Given the description of an element on the screen output the (x, y) to click on. 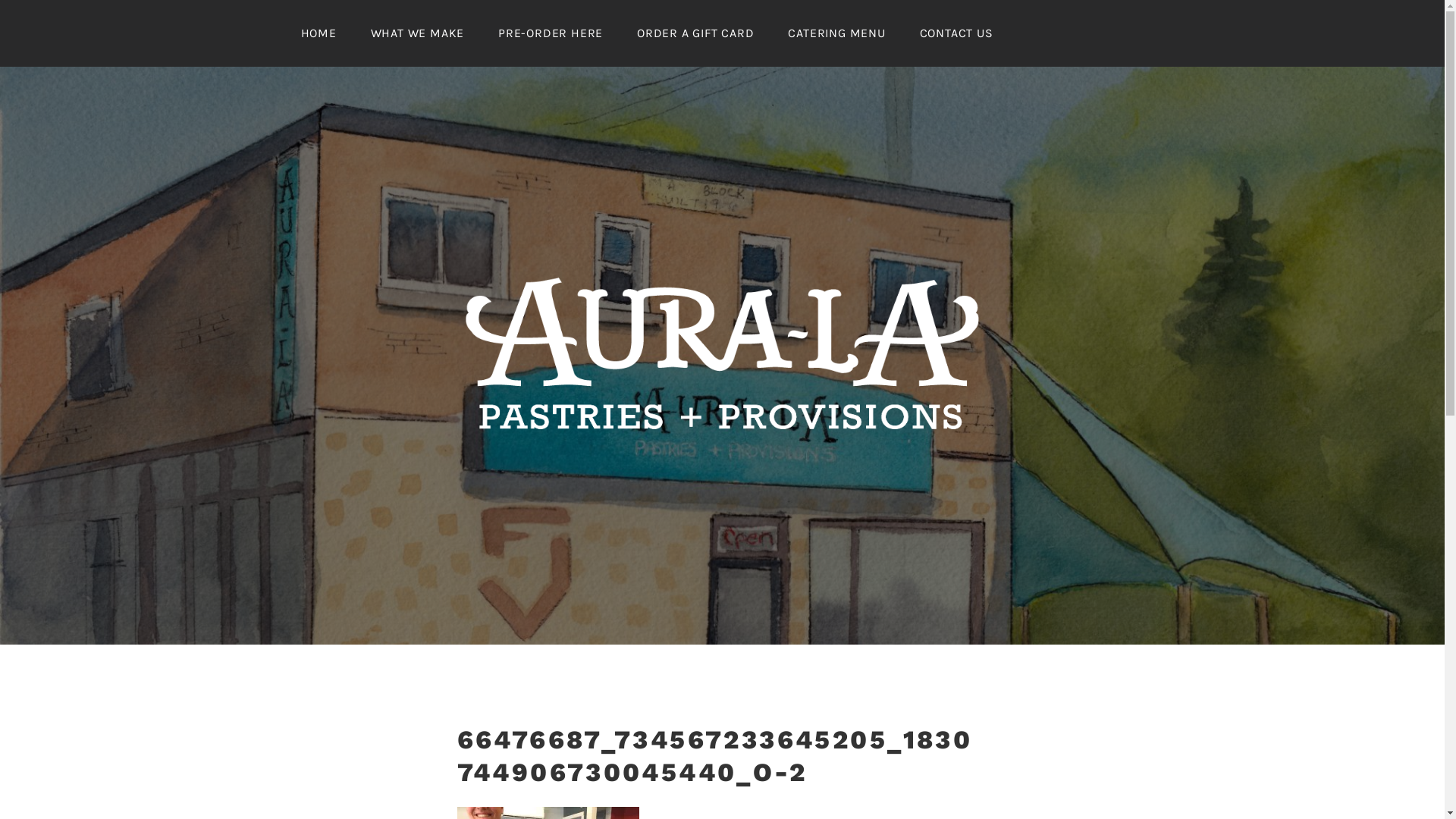
WHAT WE MAKE Element type: text (417, 33)
ORDER A GIFT CARD Element type: text (695, 33)
PRE-ORDER HERE Element type: text (550, 33)
CATERING MENU Element type: text (836, 33)
AURA-LA PASTRIES + PROVISIONS Element type: text (734, 502)
CONTACT US Element type: text (956, 33)
HOME Element type: text (318, 33)
